Given the description of an element on the screen output the (x, y) to click on. 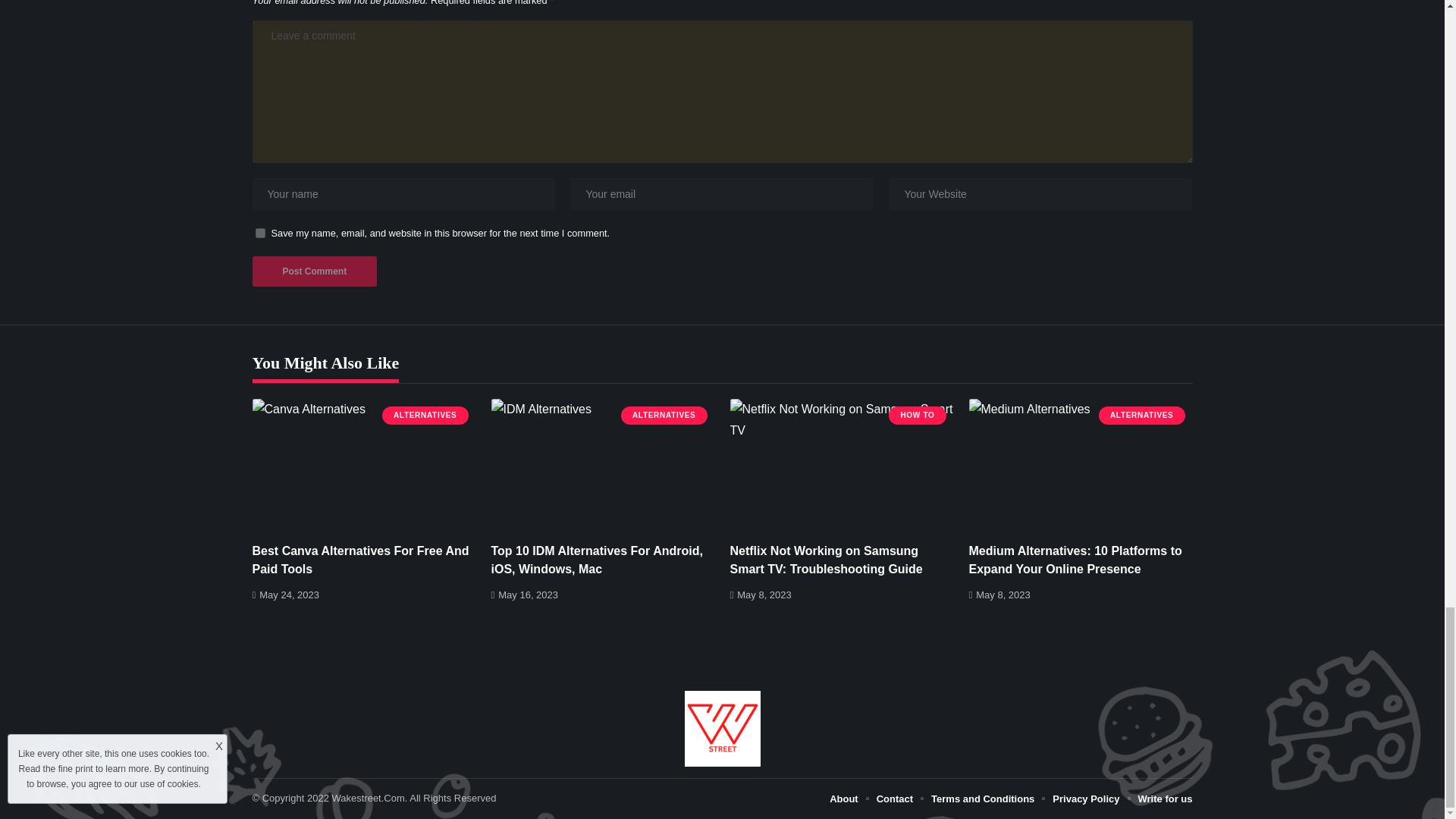
WakeStreet (722, 728)
Best Canva Alternatives For Free And Paid Tools (363, 465)
yes (259, 233)
Top 10 IDM Alternatives For Android, iOS, Windows, Mac (603, 465)
Post Comment (314, 271)
